Given the description of an element on the screen output the (x, y) to click on. 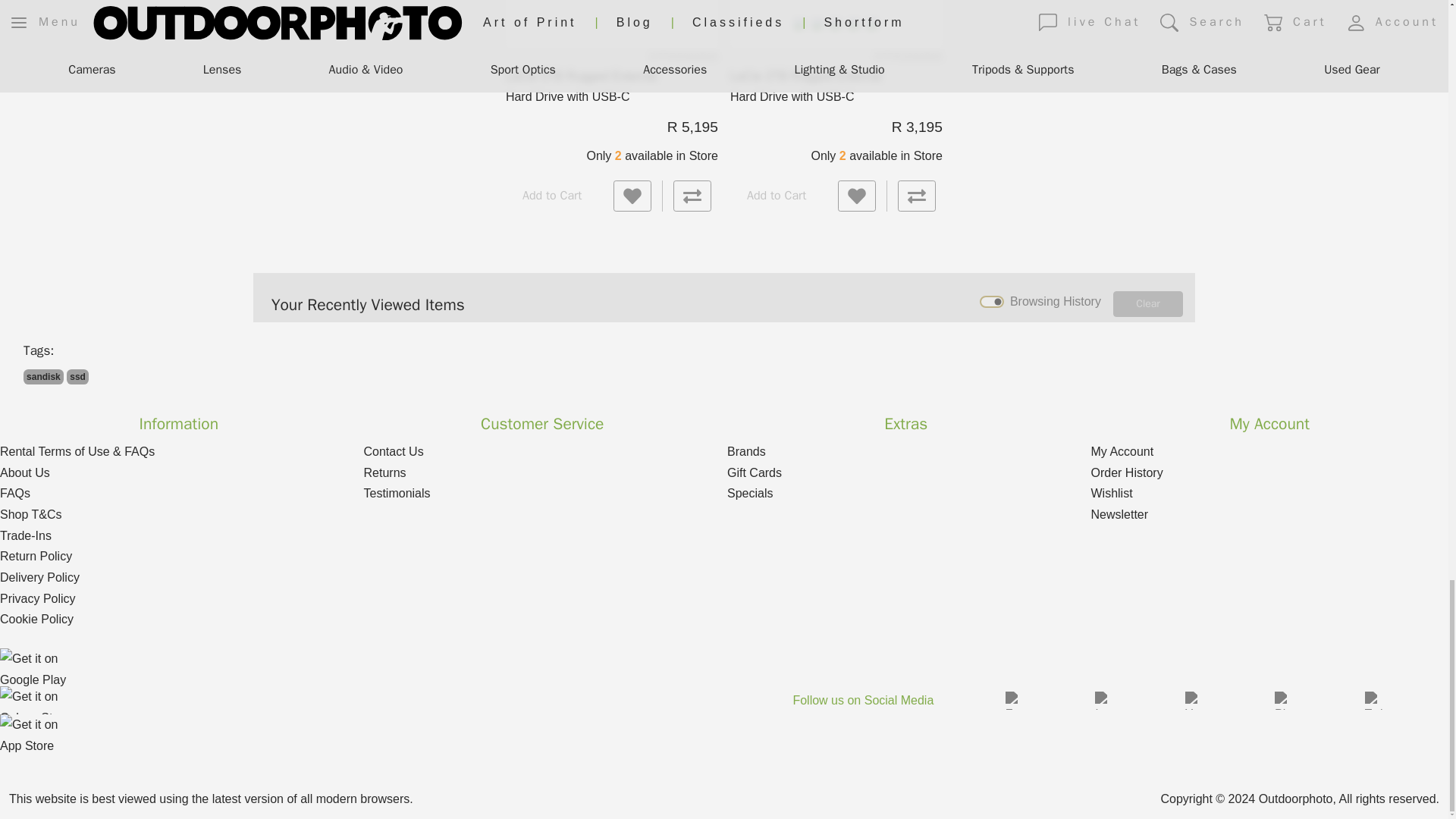
Compare this Product (691, 196)
Compare this Product (917, 196)
Add to Wishlist (857, 196)
Add to Wishlist (631, 196)
LaCie 2TB Rugged External Hard Drive with USB-C (836, 8)
on (991, 300)
LaCie 5TB Rugged External Hard Drive with USB-C (611, 8)
